Given the description of an element on the screen output the (x, y) to click on. 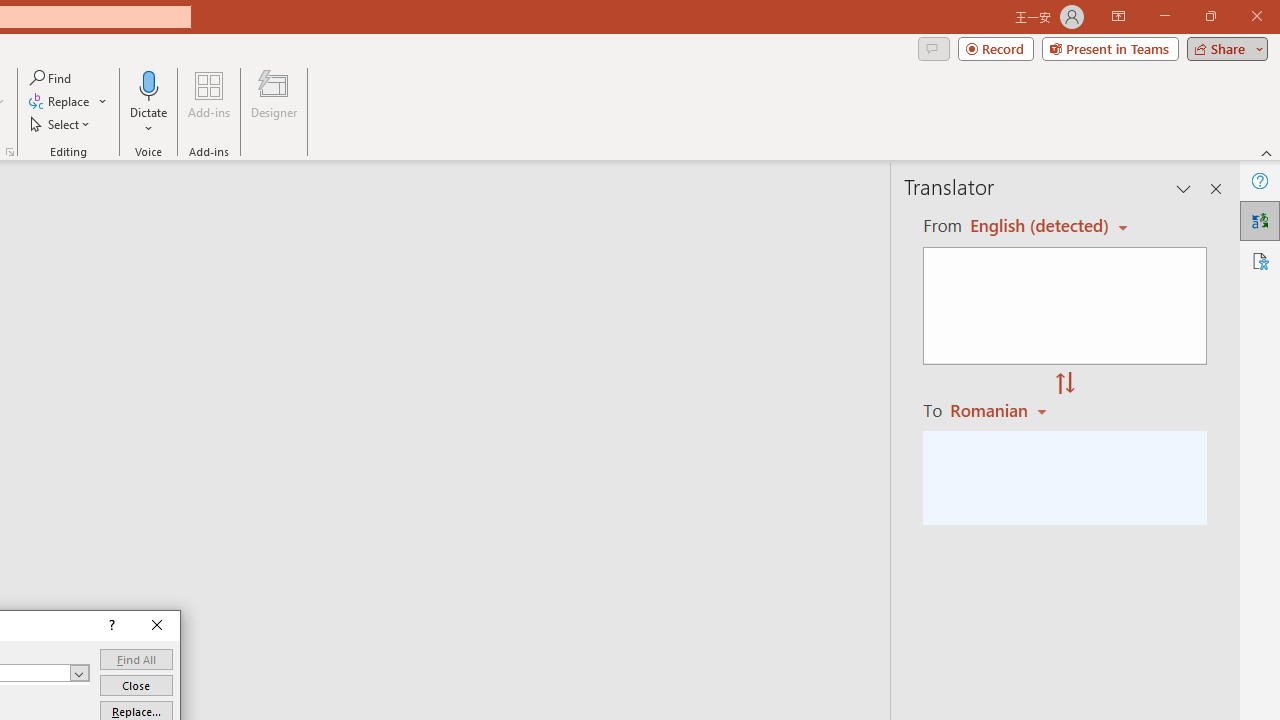
Romanian (1001, 409)
Find All (136, 659)
